Given the description of an element on the screen output the (x, y) to click on. 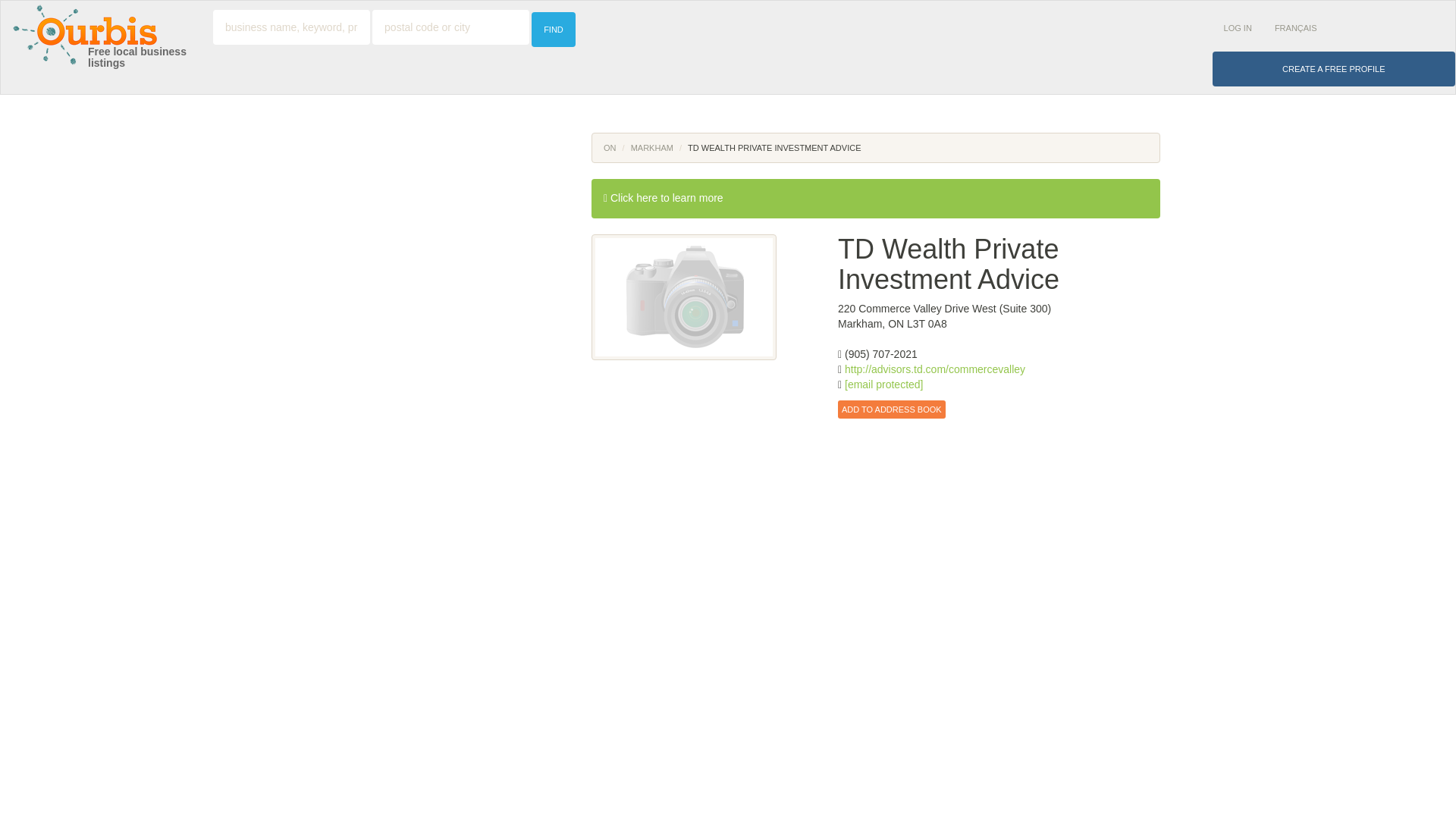
Free local business listings (136, 56)
CREATE A FREE PROFILE (1333, 68)
Click here to learn more (666, 197)
ADD TO ADDRESS BOOK (891, 409)
LOG IN (1237, 27)
Main (880, 354)
ON (609, 147)
business name, keyword, product (290, 27)
postal code or city (450, 27)
FIND (553, 29)
MARKHAM (651, 147)
